Given the description of an element on the screen output the (x, y) to click on. 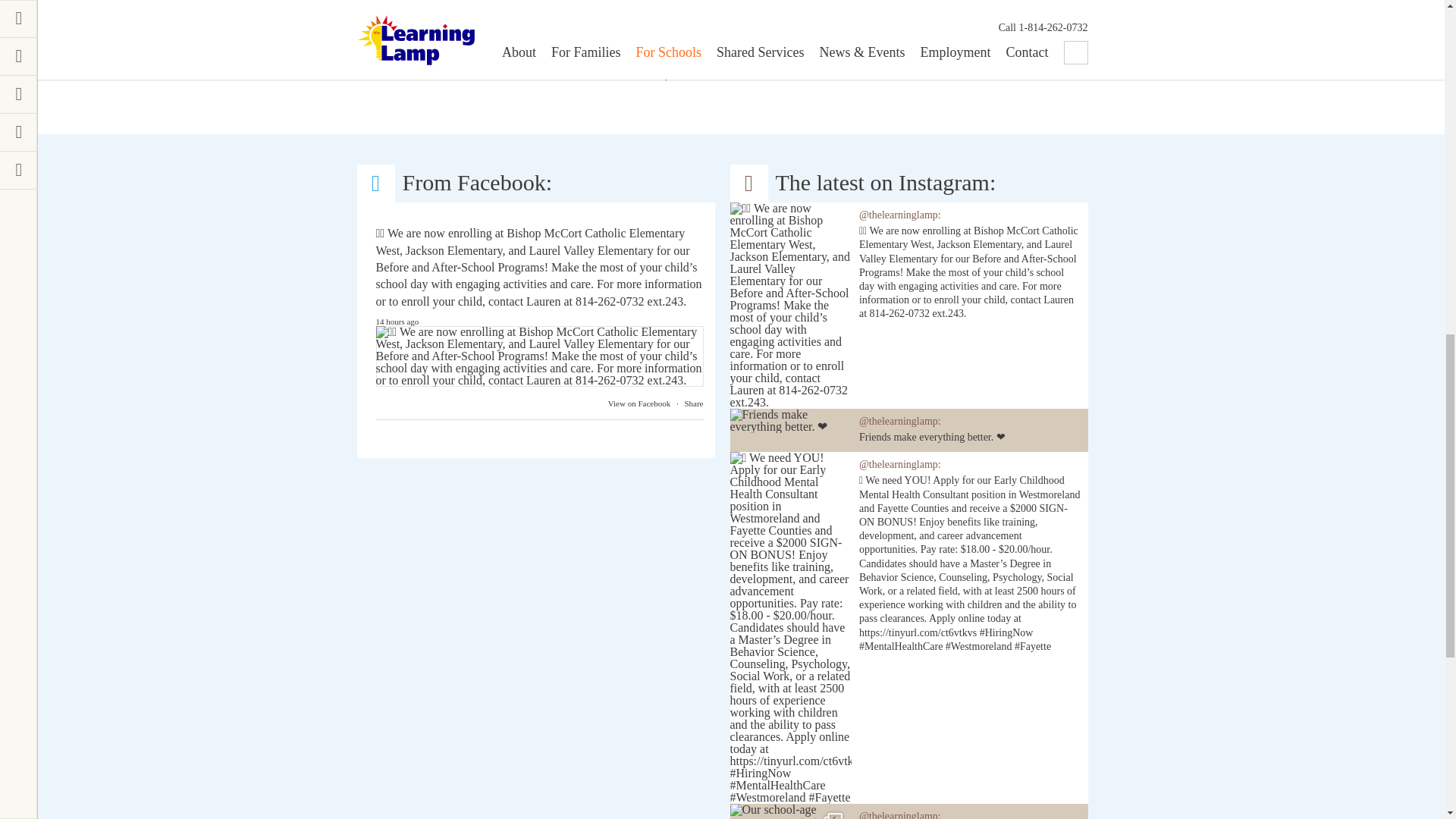
View on Facebook (640, 402)
Share (693, 402)
